Given the description of an element on the screen output the (x, y) to click on. 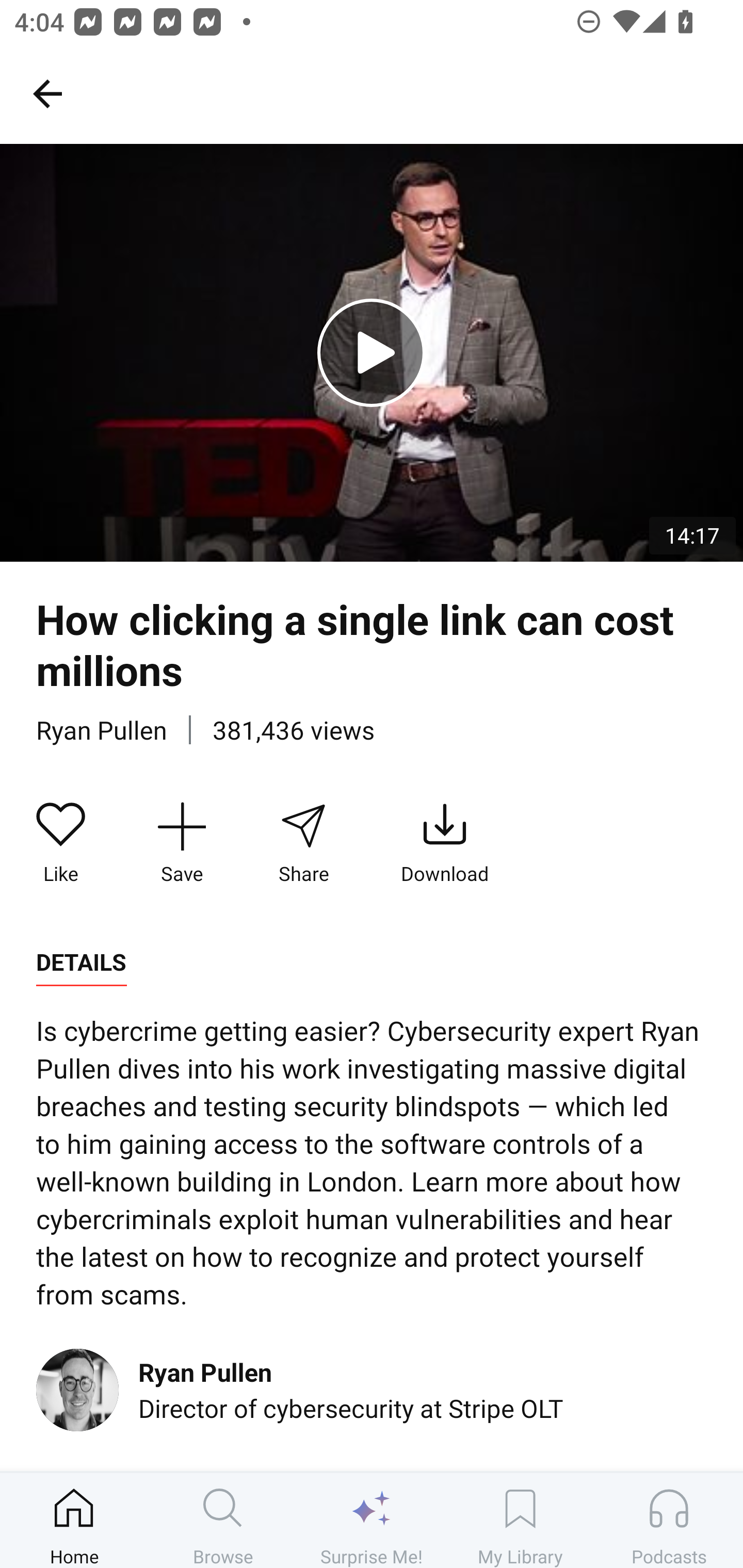
Home, back (47, 92)
Like (60, 843)
Save (181, 843)
Share (302, 843)
Download (444, 843)
DETAILS (80, 962)
Home (74, 1520)
Browse (222, 1520)
Surprise Me! (371, 1520)
My Library (519, 1520)
Podcasts (668, 1520)
